Given the description of an element on the screen output the (x, y) to click on. 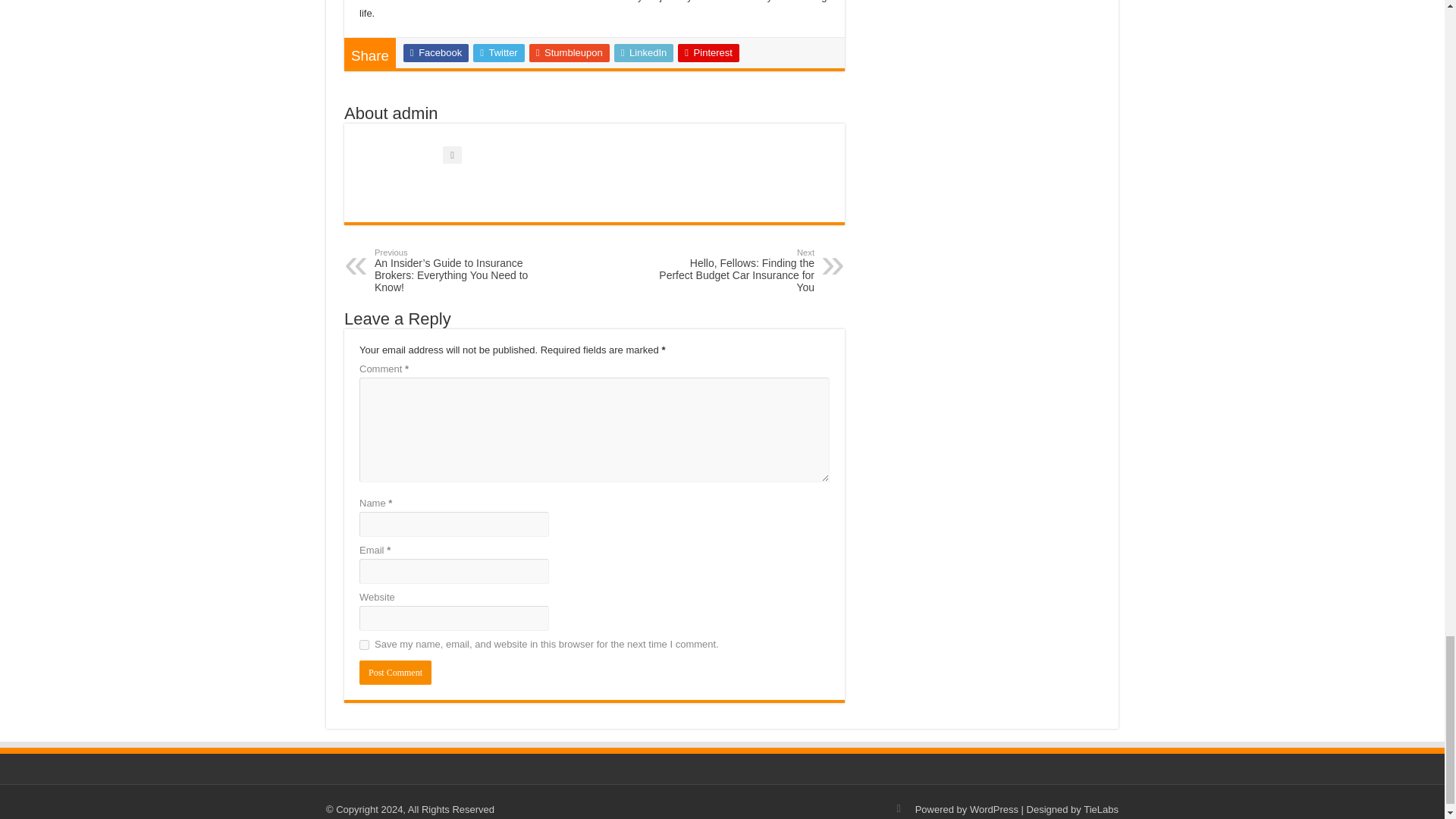
Stumbleupon (569, 53)
Pinterest (708, 53)
Twitter (498, 53)
yes (364, 644)
Facebook (435, 53)
LinkedIn (644, 53)
Post Comment (394, 672)
